Given the description of an element on the screen output the (x, y) to click on. 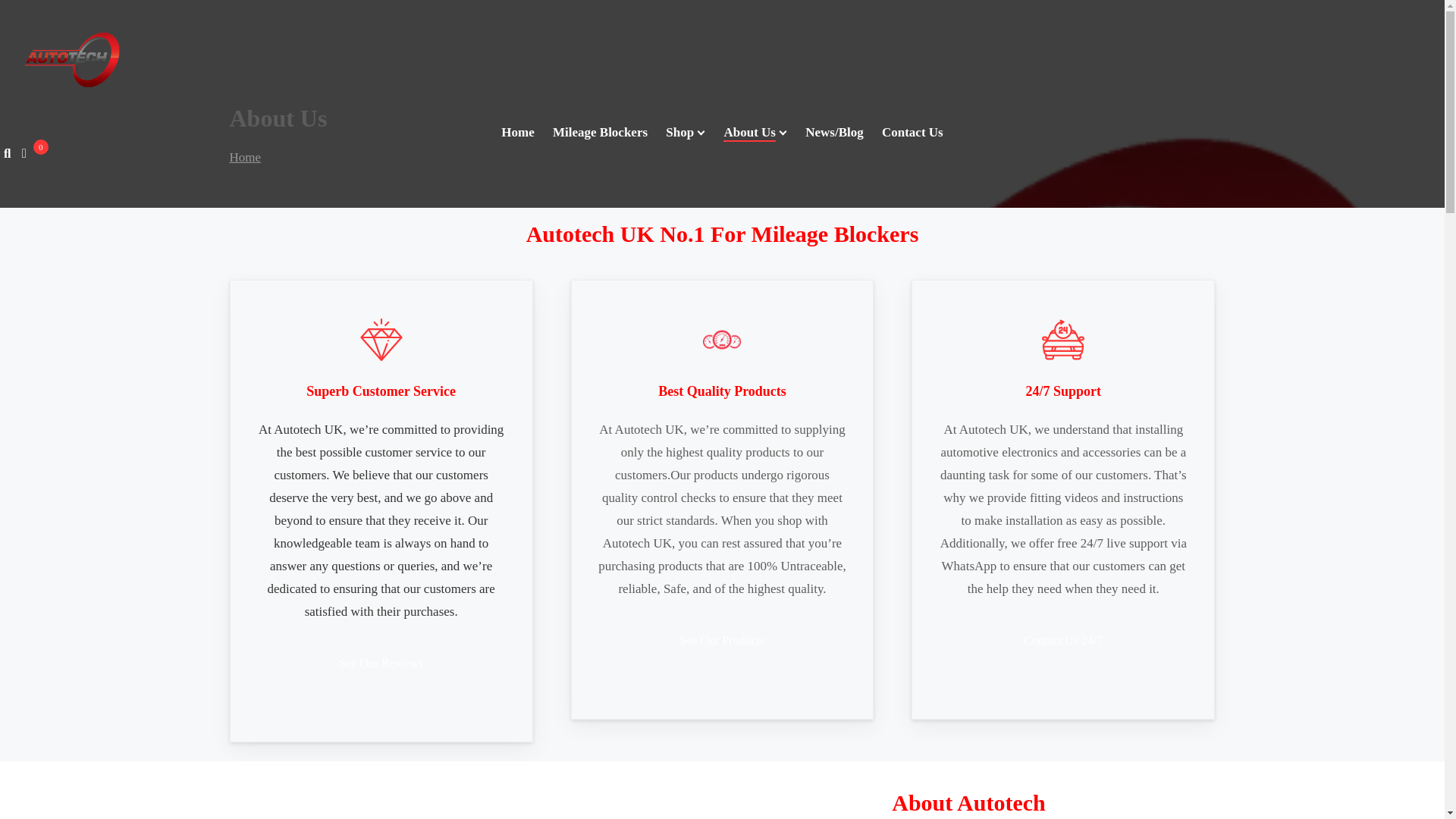
0 (27, 153)
Home (244, 156)
See Our Reviews (380, 663)
See Our Products (721, 640)
